Given the description of an element on the screen output the (x, y) to click on. 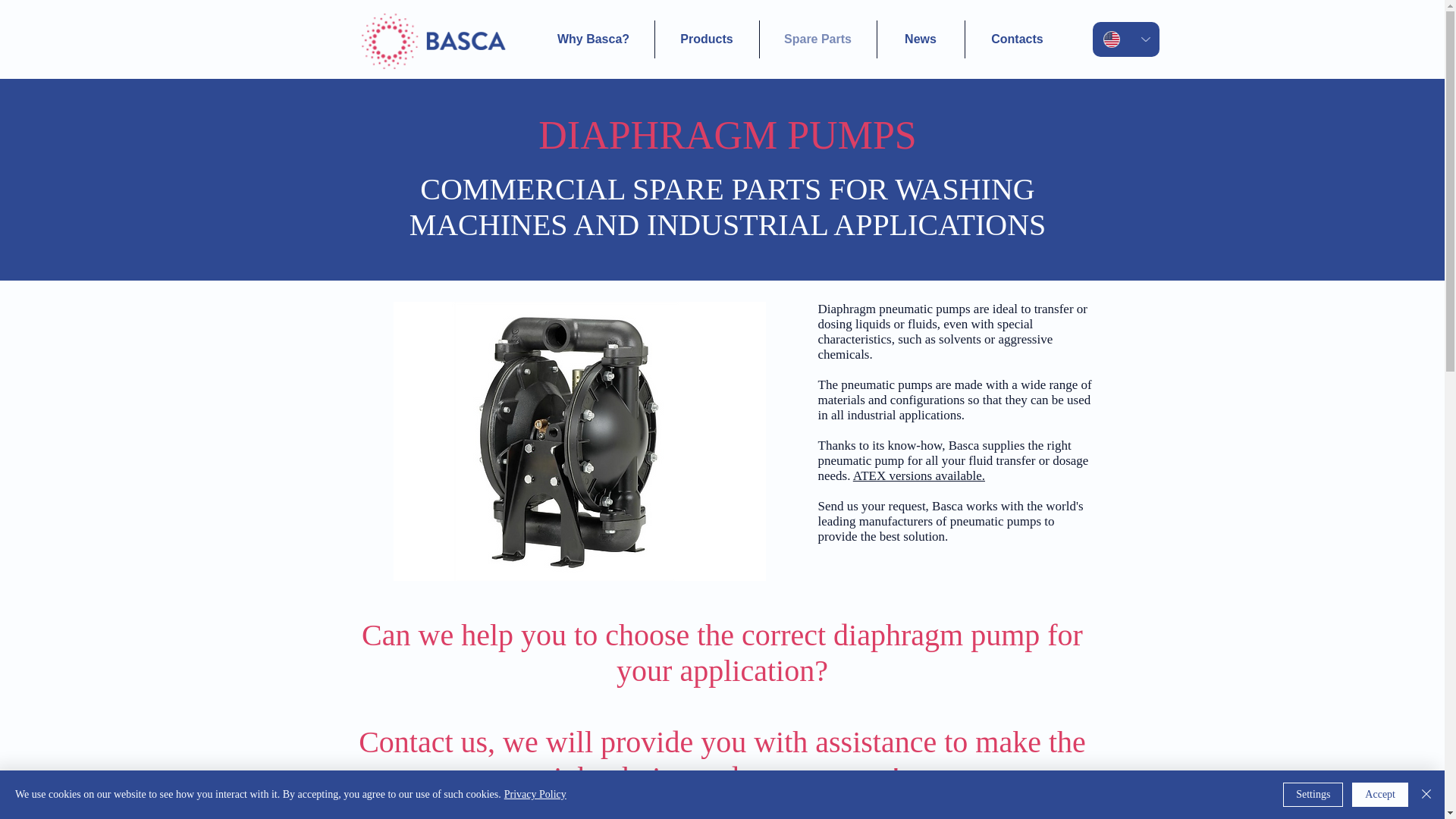
Contacts (1015, 39)
Settings (1312, 794)
Spare Parts (818, 39)
Accept (1379, 794)
Privacy Policy (534, 794)
Products (706, 39)
Why Basca? (592, 39)
